Given the description of an element on the screen output the (x, y) to click on. 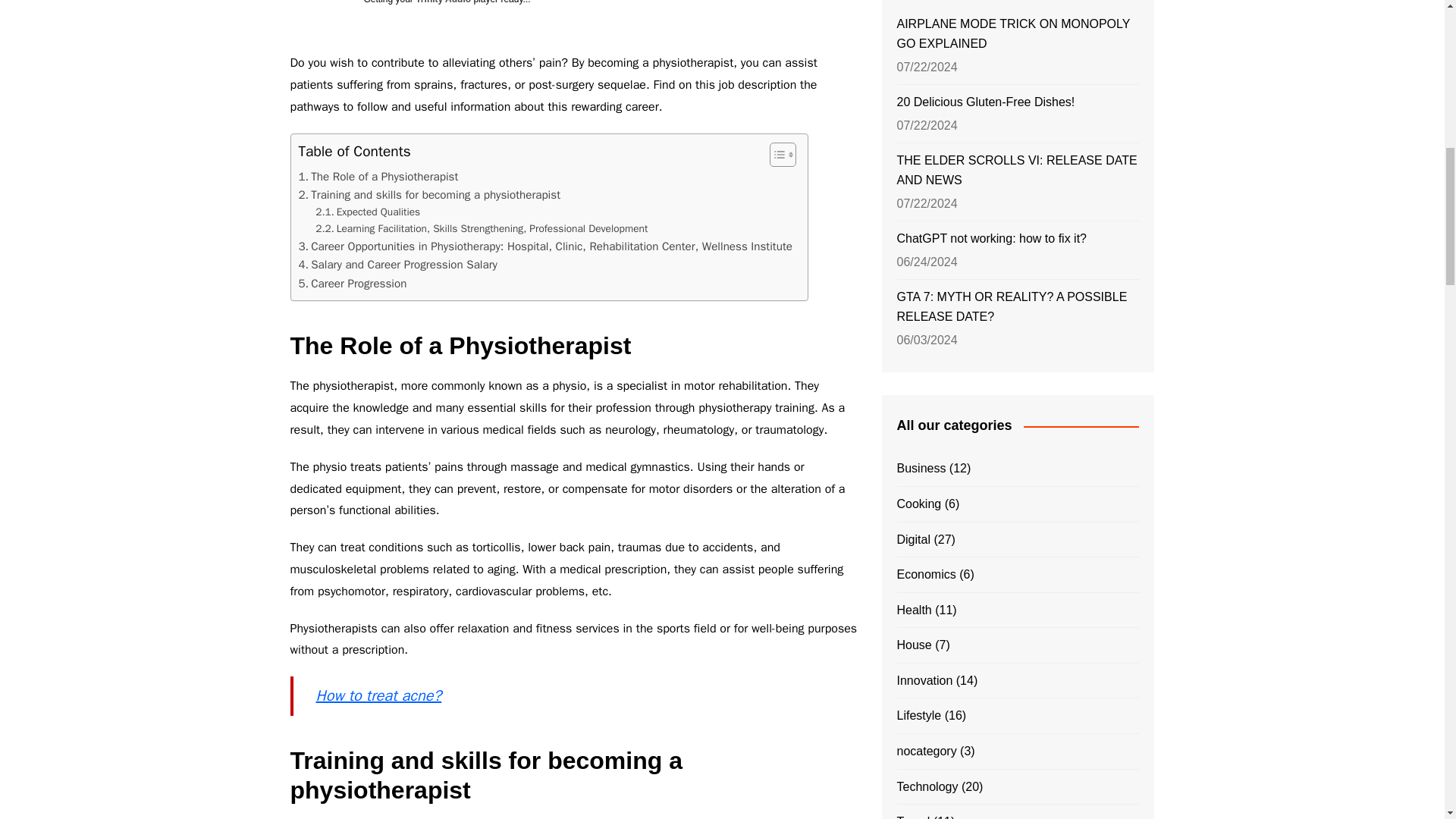
The Role of a Physiotherapist (378, 176)
Trinity Audio (442, 2)
Training and skills for becoming a physiotherapist (429, 194)
Career Progression (352, 283)
How to treat acne? (378, 695)
The Role of a Physiotherapist (378, 176)
Career Progression (352, 283)
Training and skills for becoming a physiotherapist (429, 194)
Salary and Career Progression Salary (397, 264)
Expected Qualities (367, 211)
Expected Qualities (367, 211)
